Given the description of an element on the screen output the (x, y) to click on. 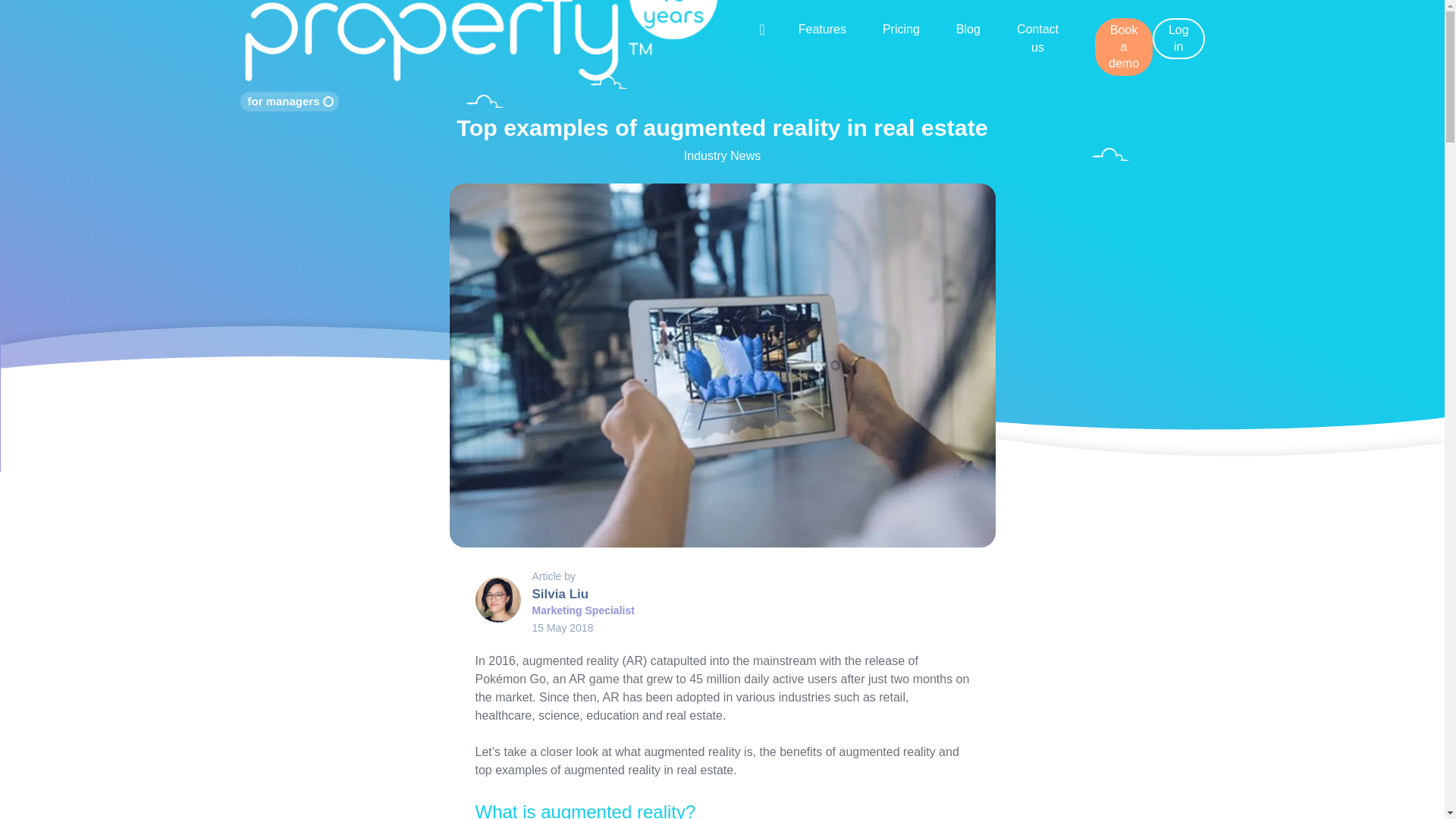
Book a demo (1123, 47)
Pricing (901, 29)
Features (821, 29)
Log in (1178, 38)
Contact us (1037, 38)
Silvia Liu (560, 594)
Blog (967, 29)
